Given the description of an element on the screen output the (x, y) to click on. 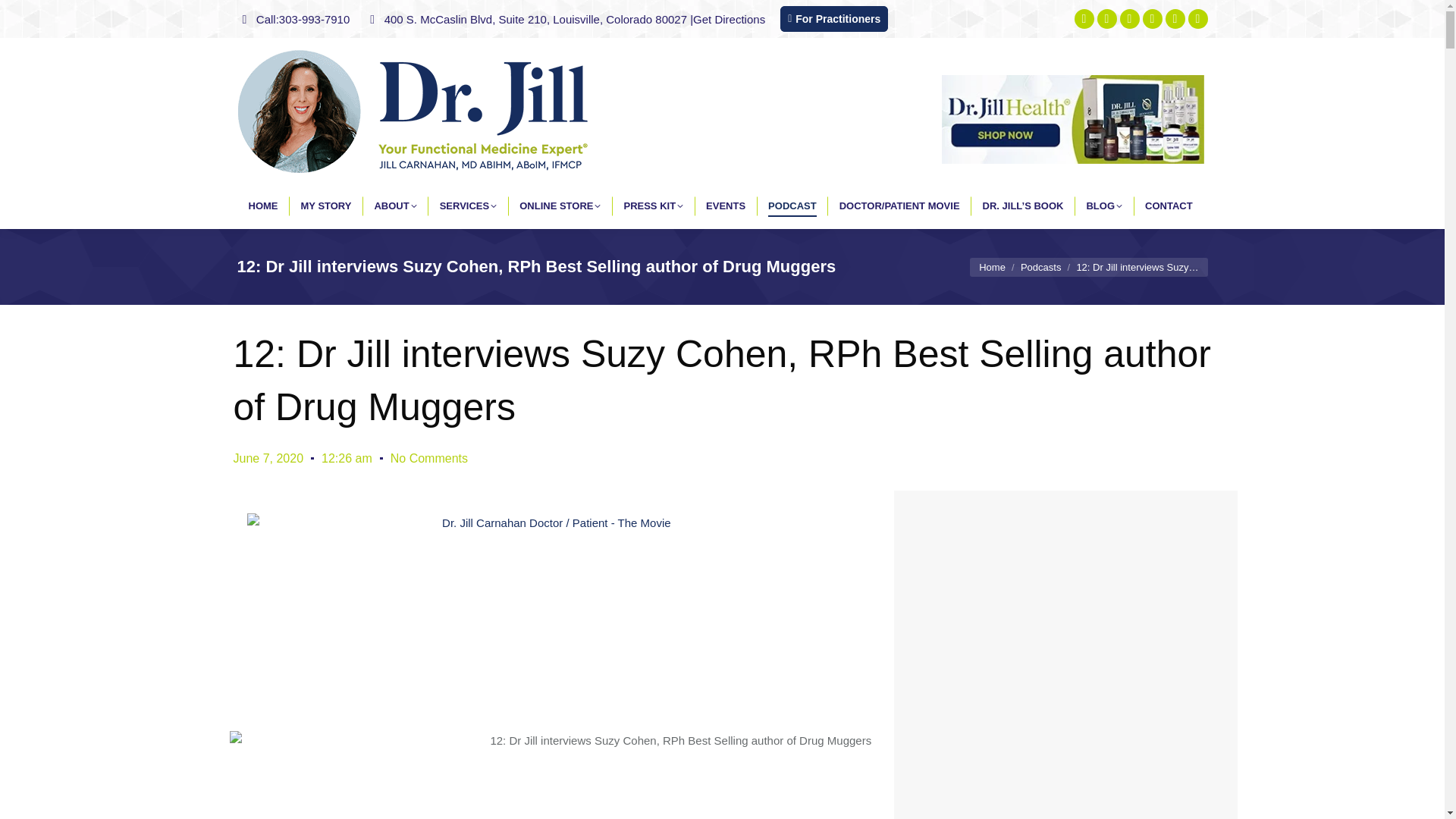
Get Directions (729, 18)
HOME (263, 205)
ABOUT (394, 205)
Pinterest page opens in new window (1106, 18)
YouTube page opens in new window (1151, 18)
For Practitioners (834, 18)
ONLINE STORE (560, 205)
MY STORY (325, 205)
Home (992, 266)
Linkedin page opens in new window (1175, 18)
